Given the description of an element on the screen output the (x, y) to click on. 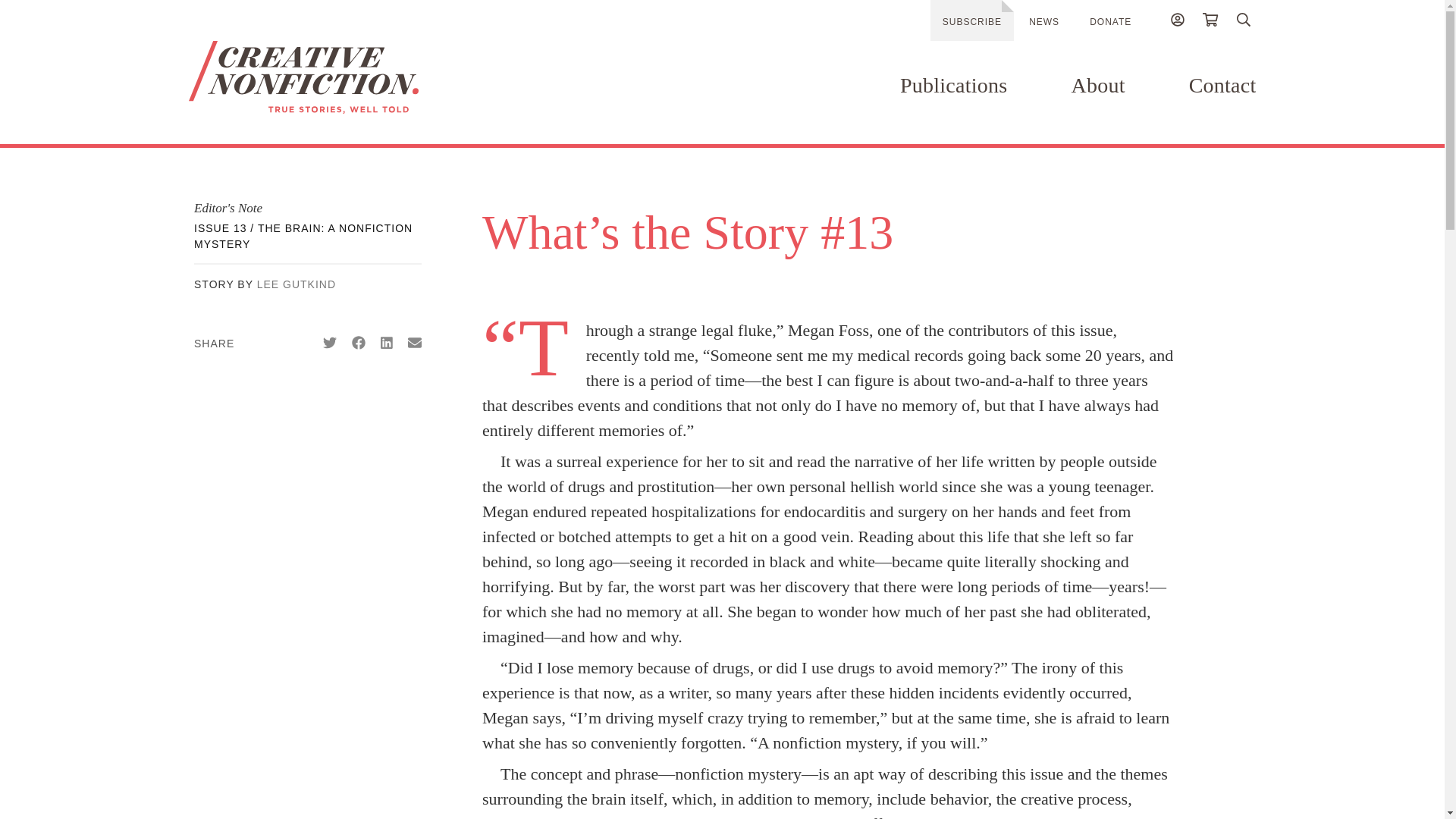
Issue 13 (302, 235)
DONATE (1110, 21)
Lee Gutkind (296, 284)
Publications (953, 85)
Share Via Email (414, 342)
Share Via Facebook (358, 342)
Share Via Facebook (358, 342)
Contact (1222, 85)
Creative Nonfiction (347, 76)
SUBSCRIBE (971, 20)
